Given the description of an element on the screen output the (x, y) to click on. 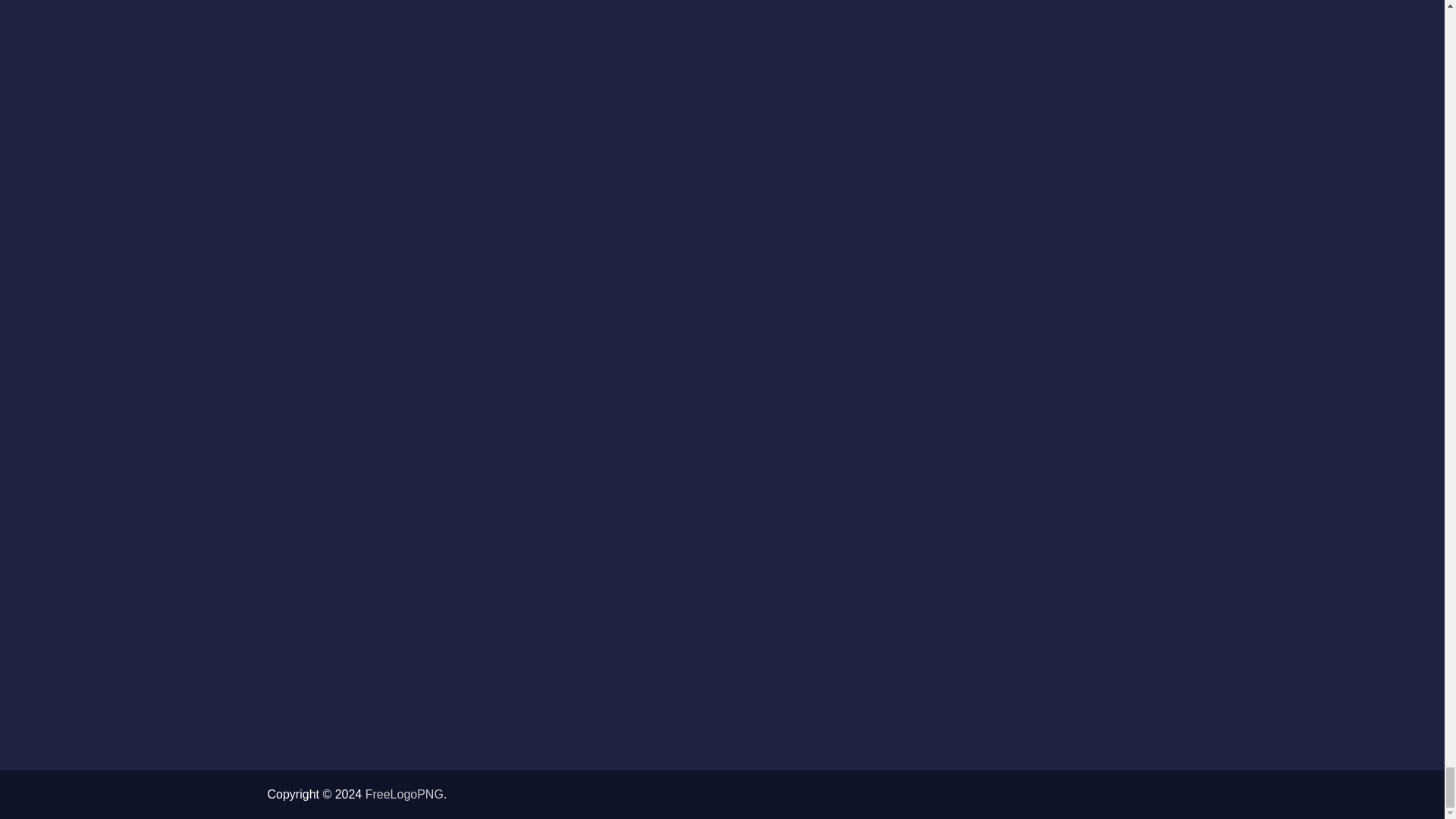
FreeLogoPNG (404, 793)
